Given the description of an element on the screen output the (x, y) to click on. 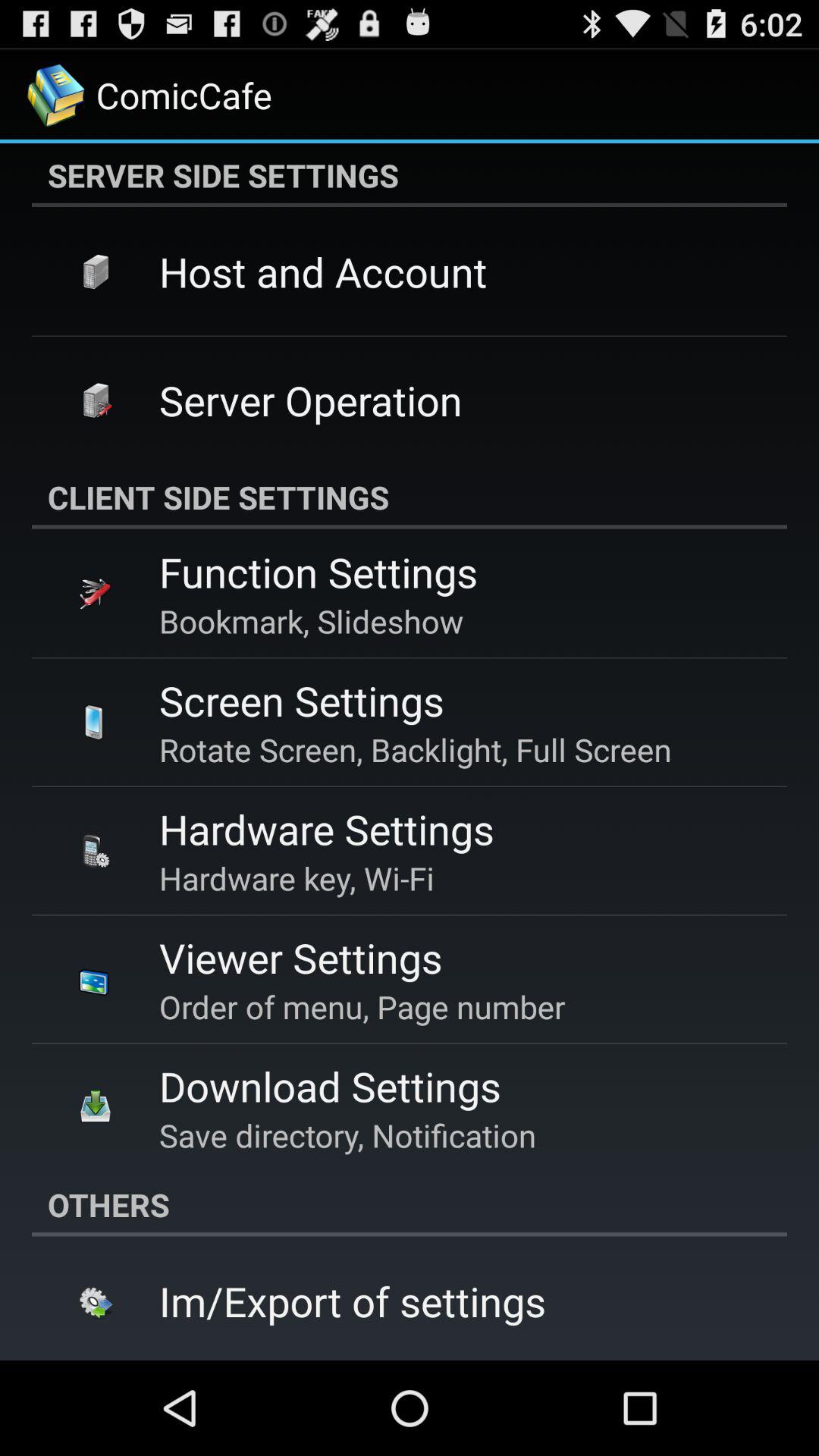
flip until host and account (323, 271)
